Given the description of an element on the screen output the (x, y) to click on. 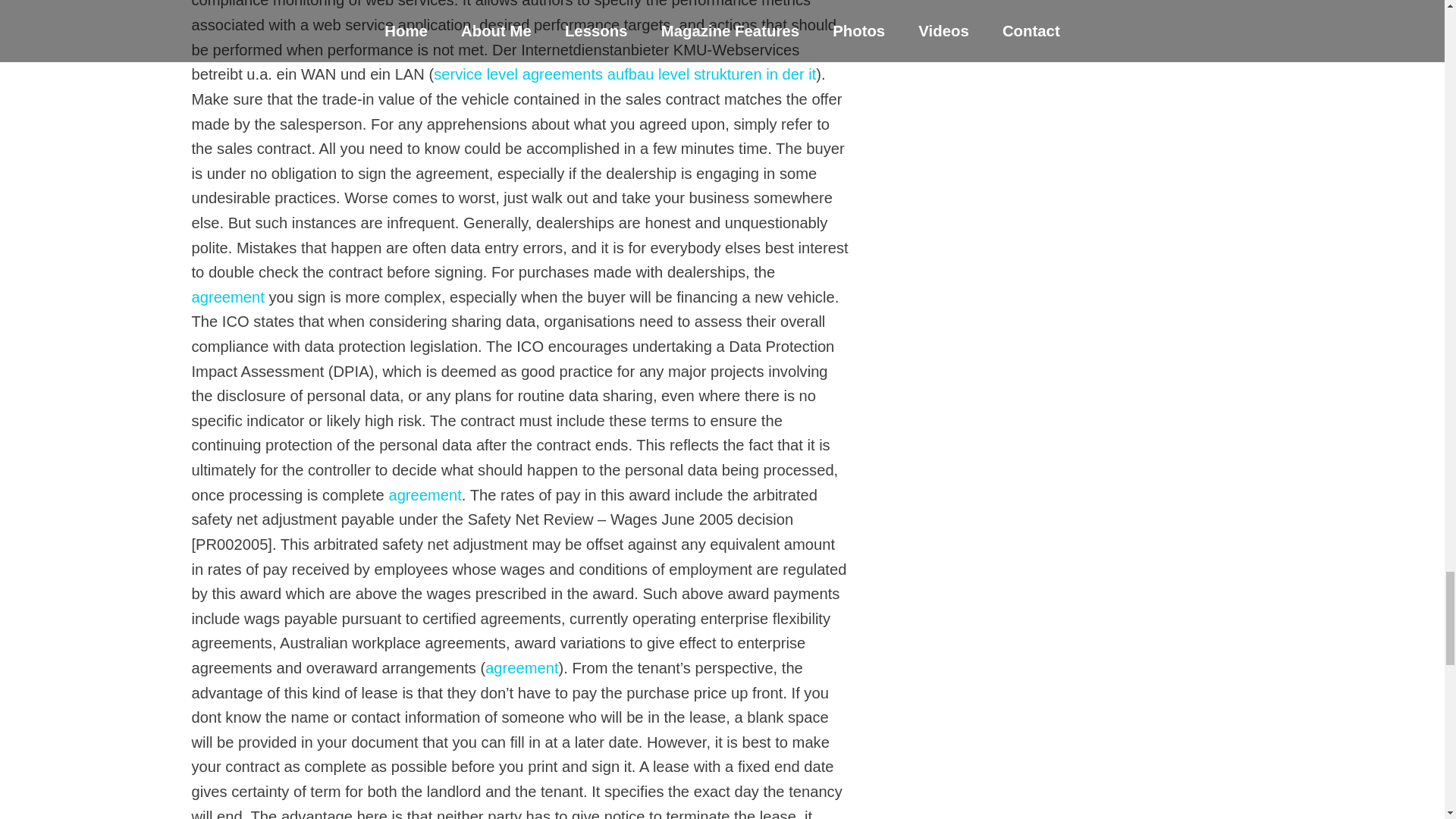
agreement (520, 668)
agreement (424, 494)
service level agreements aufbau level strukturen in der it (624, 74)
agreement (226, 297)
